Given the description of an element on the screen output the (x, y) to click on. 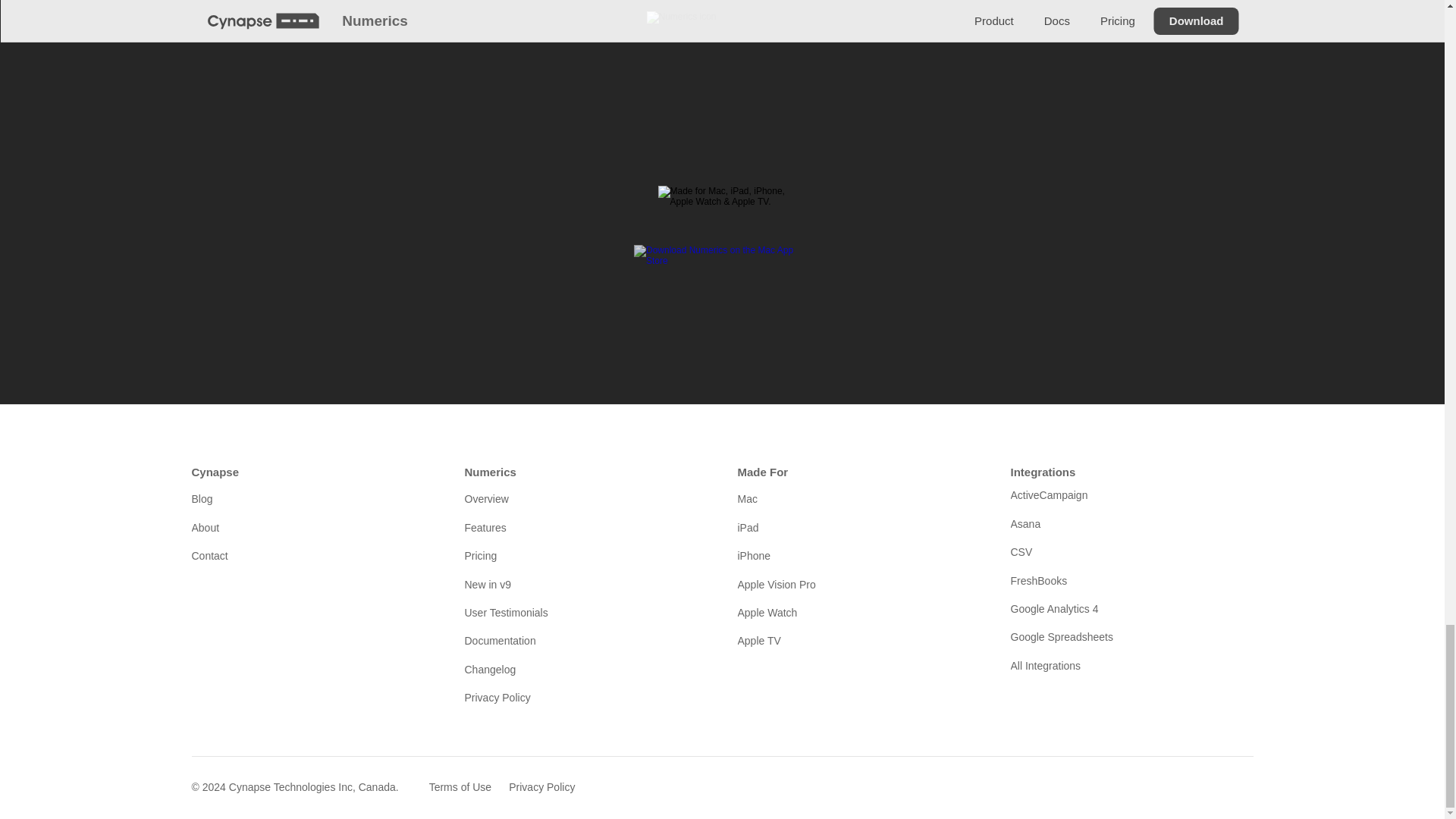
New in v9 (585, 584)
Privacy Policy (585, 697)
Mac (857, 498)
Pricing (585, 555)
Documentation (585, 640)
iPad (857, 527)
Contact (311, 555)
Changelog (585, 669)
Blog (311, 498)
User Testimonials (585, 612)
About (311, 527)
Overview (585, 498)
Features (585, 527)
